Given the description of an element on the screen output the (x, y) to click on. 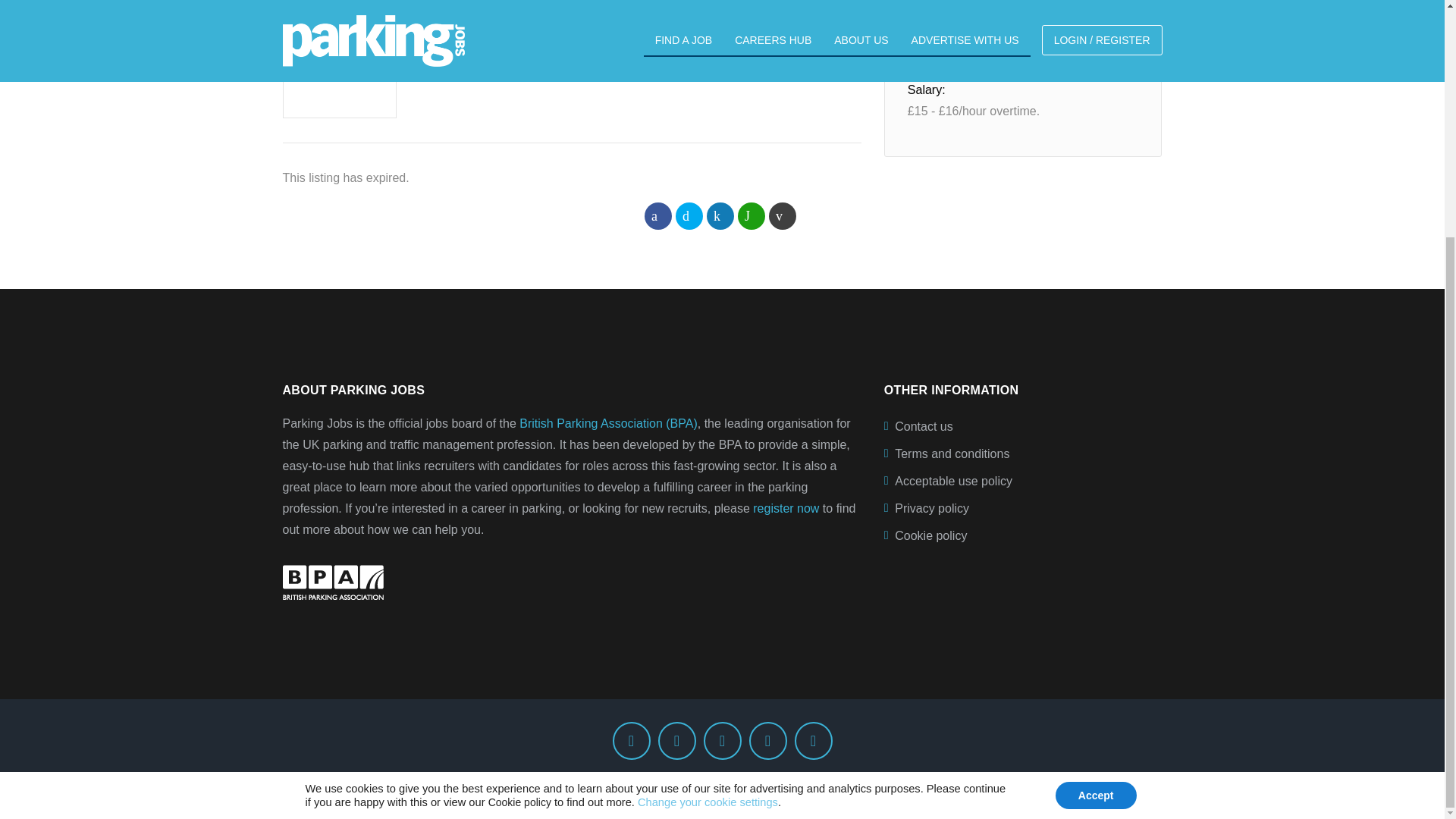
Share on Email (782, 216)
CPL (925, 784)
Contact us (1022, 426)
Terms and conditions (1022, 453)
Privacy policy (1022, 508)
Acceptable use policy (1022, 481)
Share on Facebook (658, 216)
Cookie policy (519, 478)
Share on LinkedIn (719, 216)
UNITY RECRUITMENT (491, 51)
Change your cookie settings (707, 478)
Accept (1096, 471)
Website (443, 72)
Share on Twitter (689, 216)
register now (785, 508)
